Given the description of an element on the screen output the (x, y) to click on. 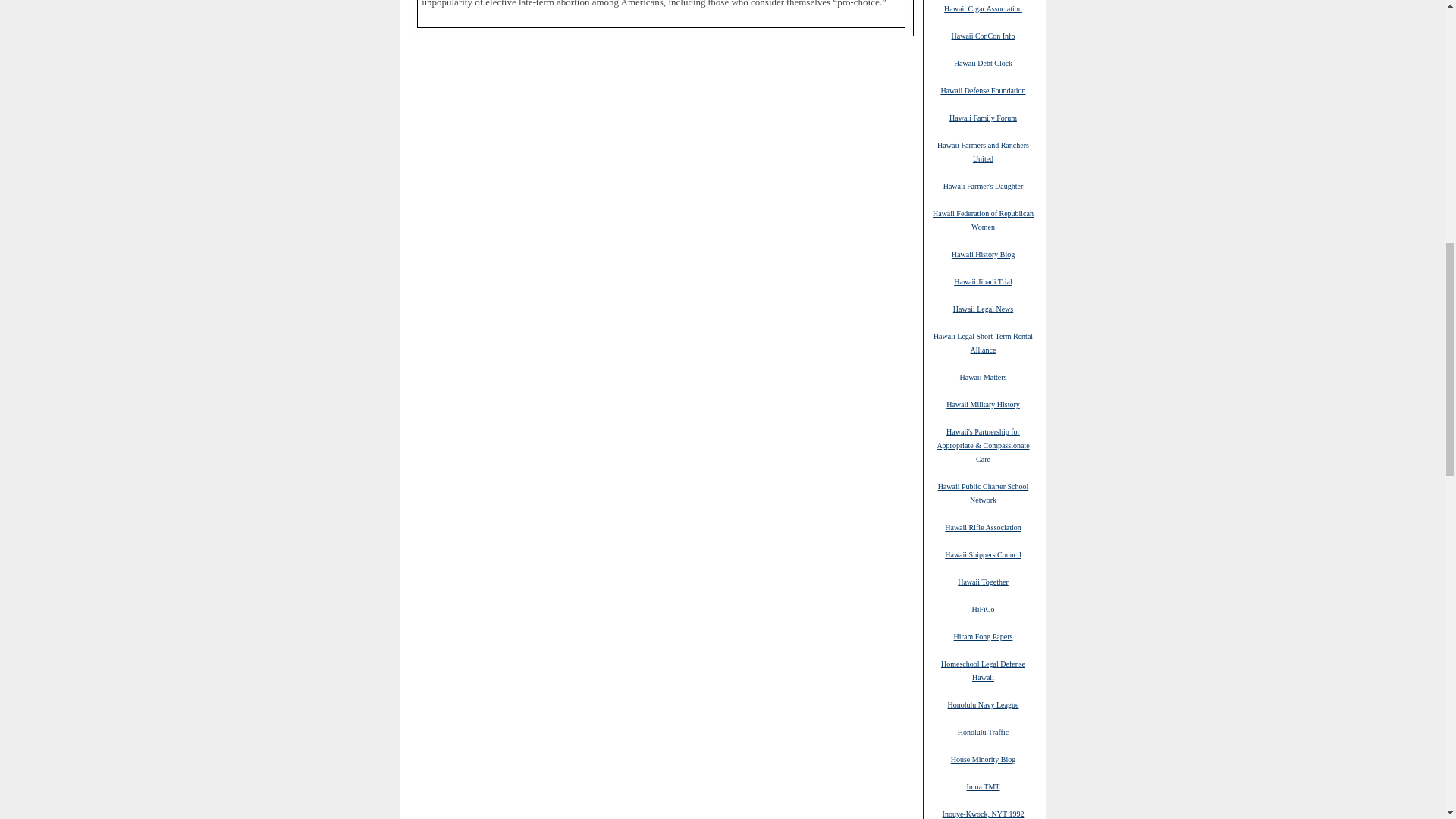
Hawaii Federation of Republican Women (983, 219)
Hawaii Farmers and Ranchers United (983, 151)
Hawaii ConCon Info (983, 35)
Hawaii Defense Foundation (982, 90)
Hawaii Family Forum (982, 117)
Hawaii Cigar Association (982, 8)
Hawaii Debt Clock (982, 62)
Hawaii Farmer's Daughter (983, 185)
